Given the description of an element on the screen output the (x, y) to click on. 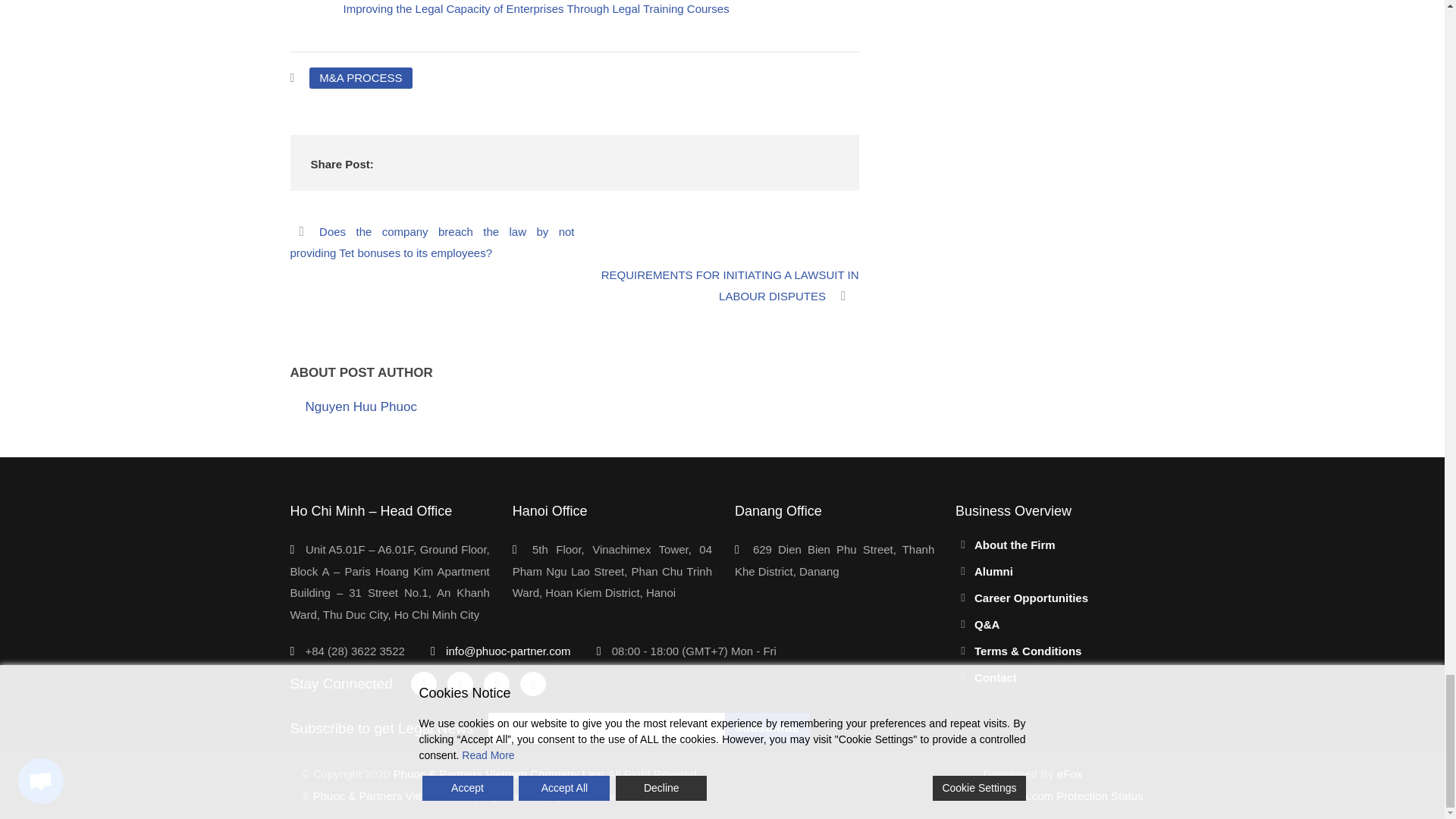
Posts by Nguyen Huu Phuoc (360, 406)
DMCA.com Protection Status (1062, 795)
Subscribe (767, 727)
